Given the description of an element on the screen output the (x, y) to click on. 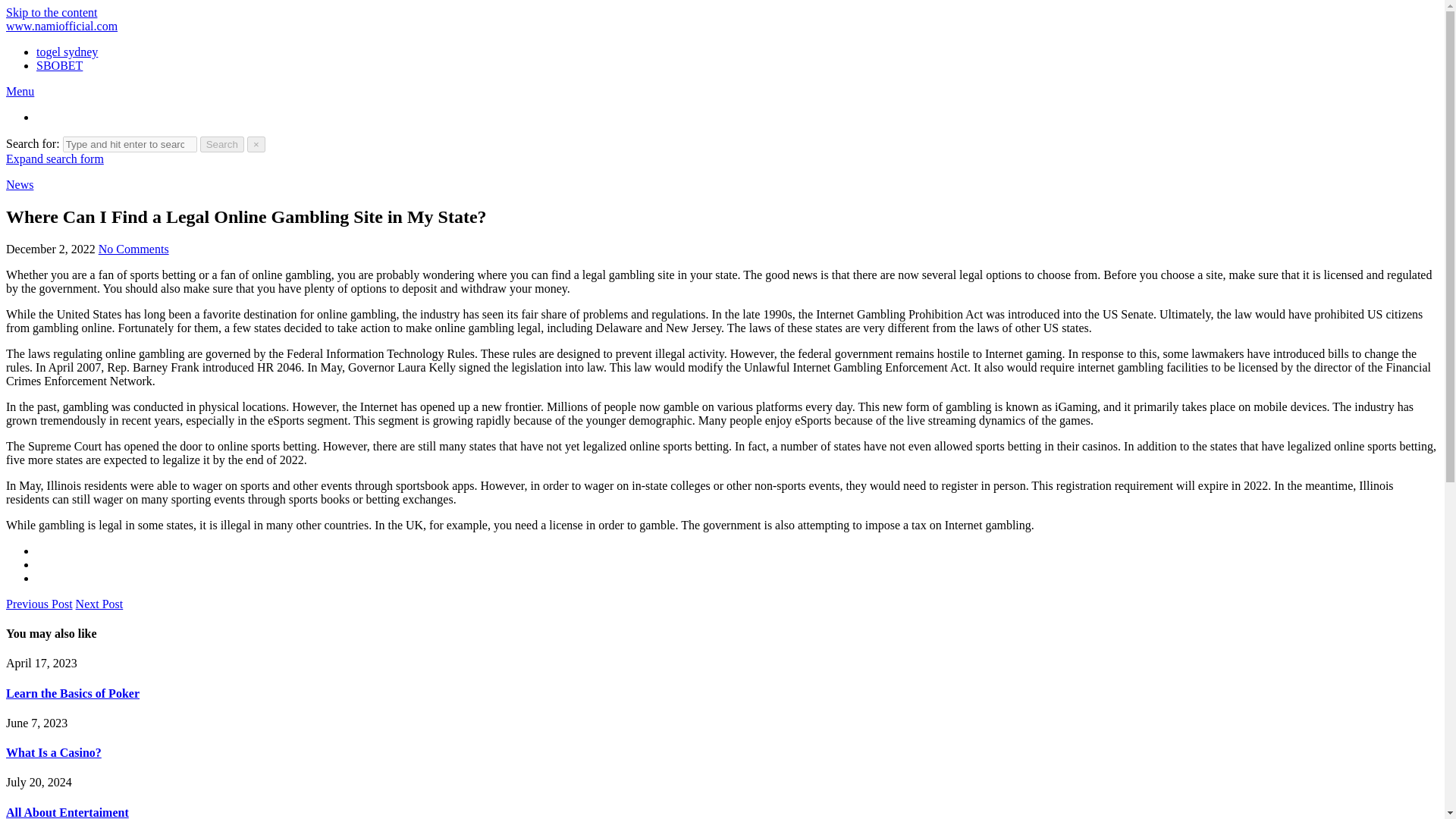
SBOBET (59, 65)
Next Post (99, 603)
No Comments (133, 248)
Expand search form (54, 158)
togel sydney (66, 51)
www.namiofficial.com (61, 25)
Learn the Basics of Poker (72, 693)
What Is a Casino? (53, 752)
All About Entertaiment (67, 812)
Previous Post (38, 603)
